Given the description of an element on the screen output the (x, y) to click on. 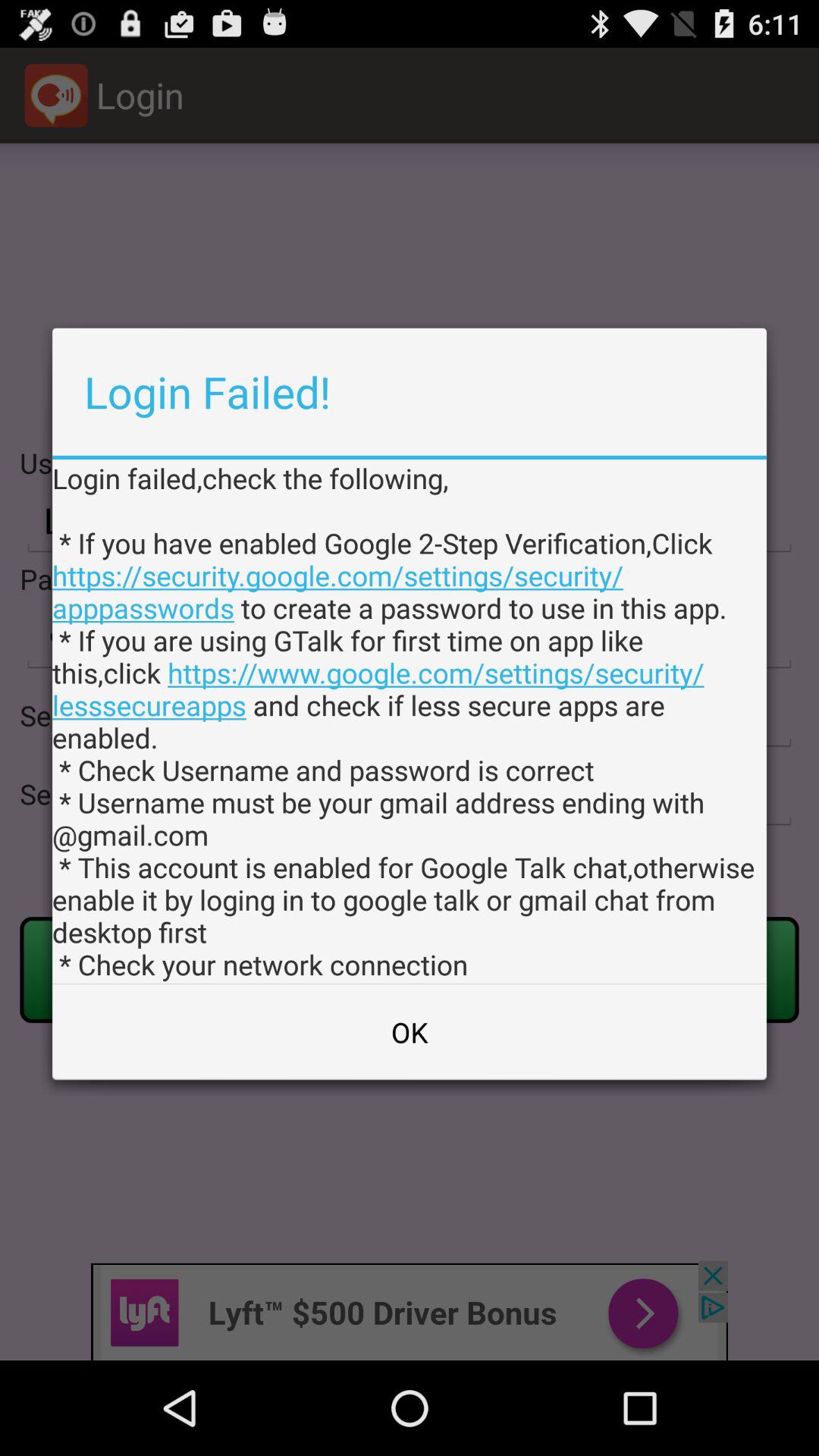
open the ok at the bottom (409, 1032)
